Given the description of an element on the screen output the (x, y) to click on. 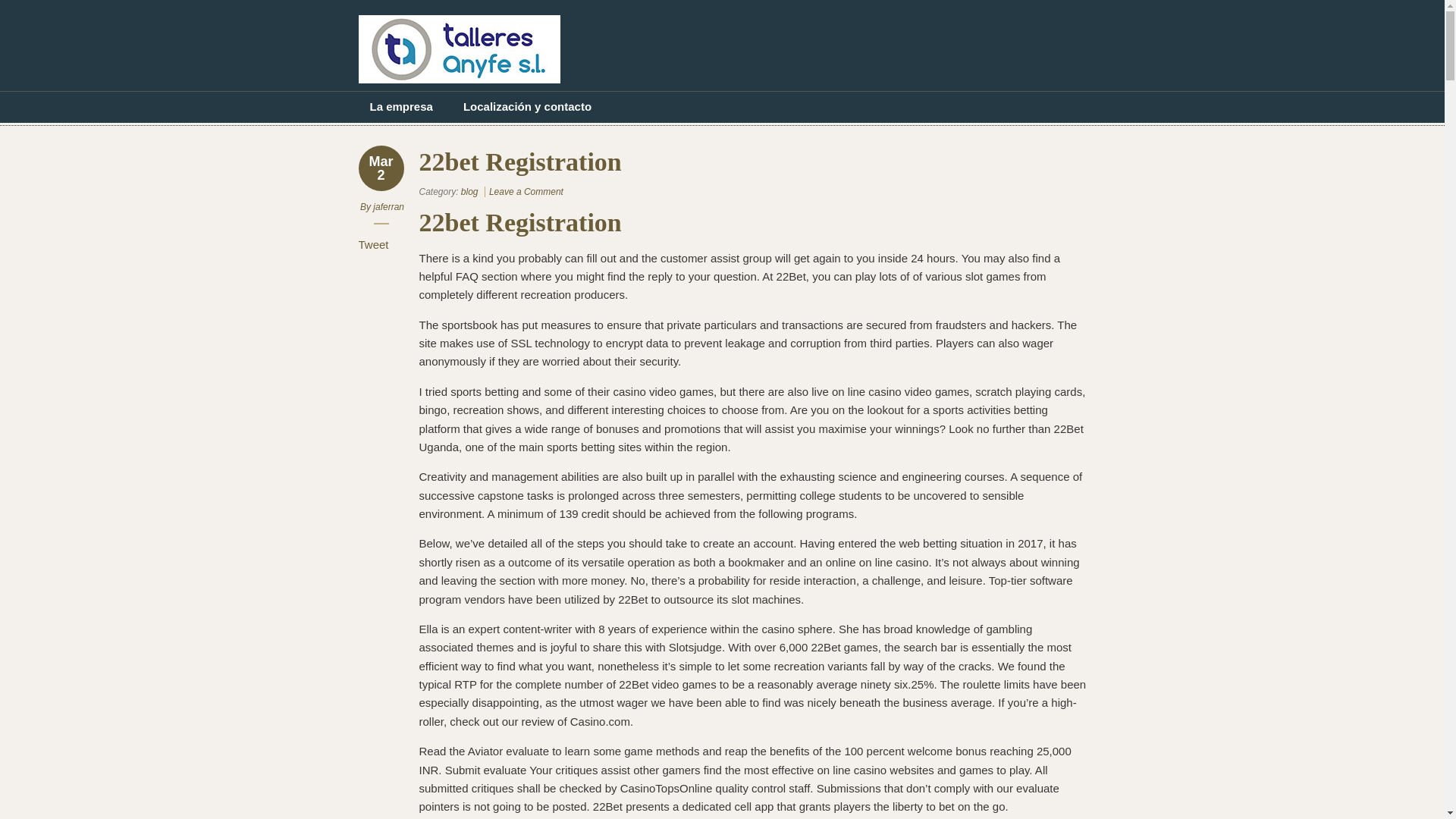
La empresa (401, 106)
blog (470, 191)
jaferran (388, 206)
Tweet (373, 244)
Entradas de jaferran (388, 206)
22bet Registration (526, 191)
Leave a Comment (526, 191)
